Given the description of an element on the screen output the (x, y) to click on. 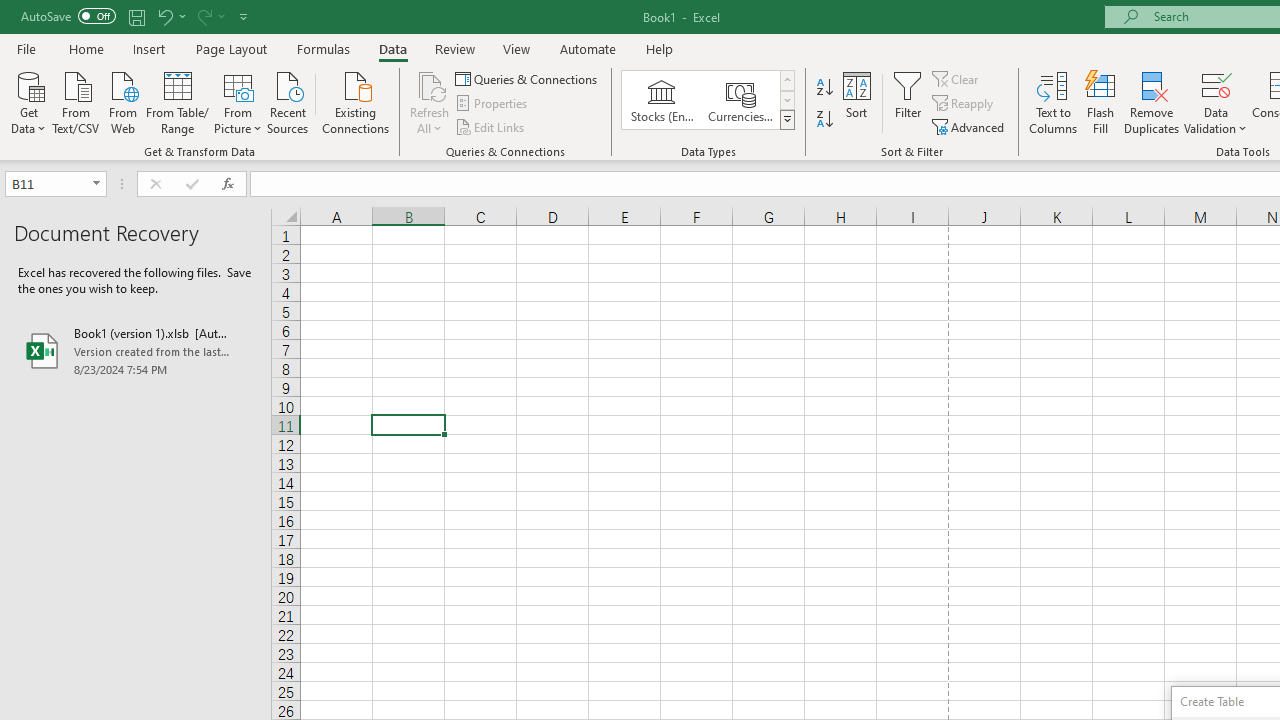
Get Data (28, 101)
Sort A to Z (824, 87)
